Given the description of an element on the screen output the (x, y) to click on. 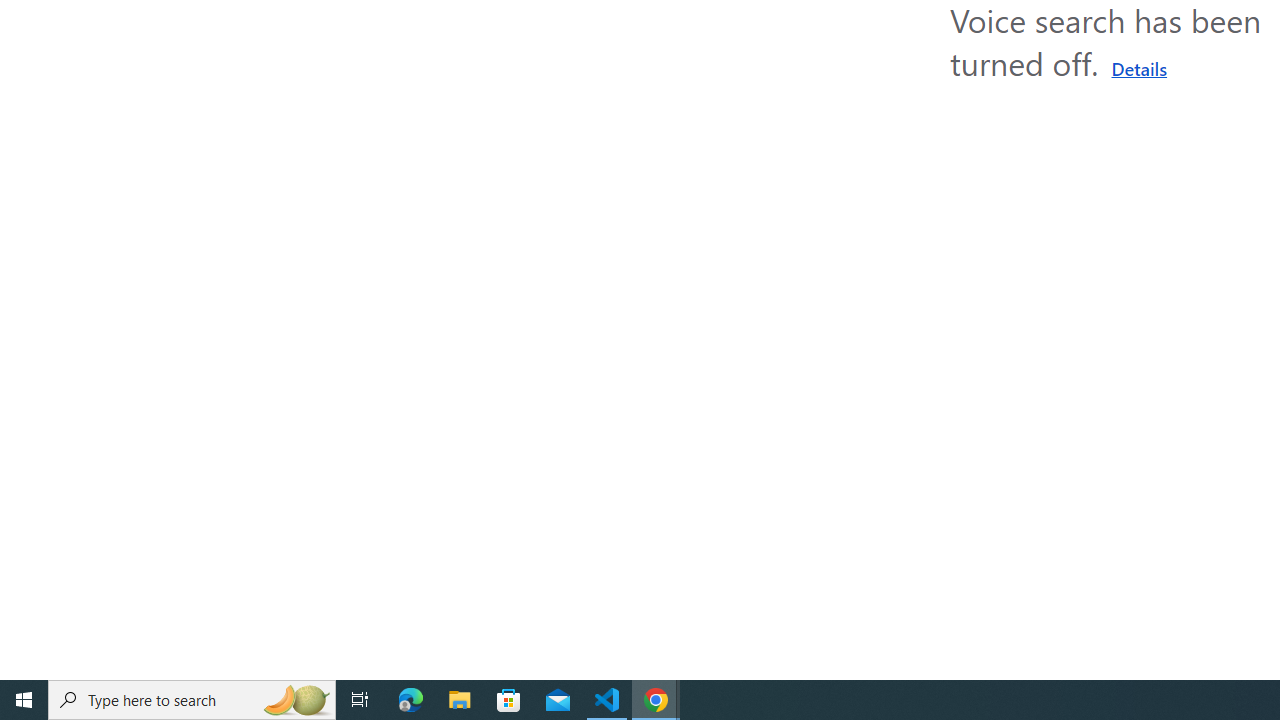
Learn more about using a microphone (1139, 68)
